Given the description of an element on the screen output the (x, y) to click on. 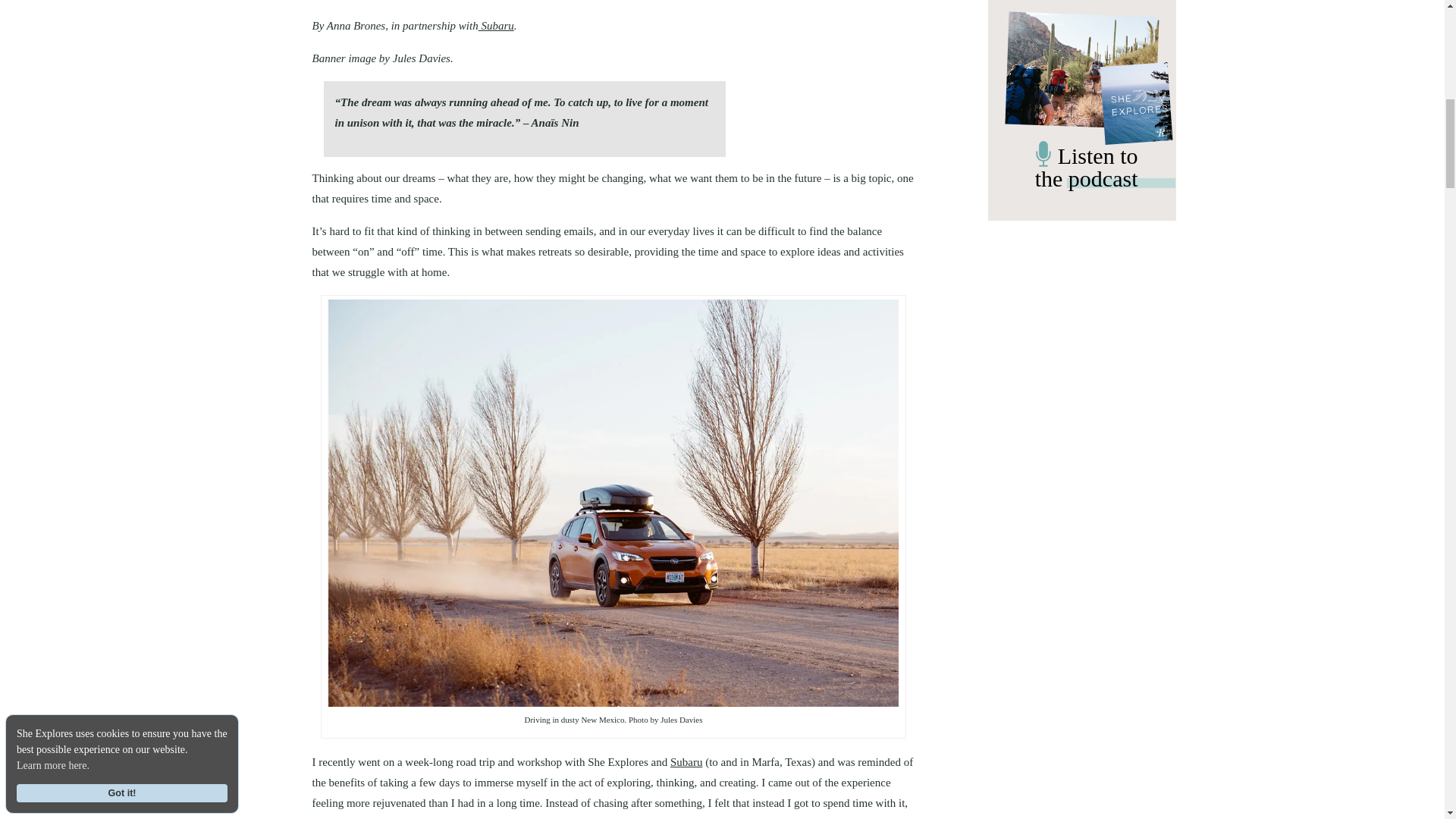
Listen to the podcast (1082, 171)
Subaru (496, 25)
Subaru (686, 761)
